Given the description of an element on the screen output the (x, y) to click on. 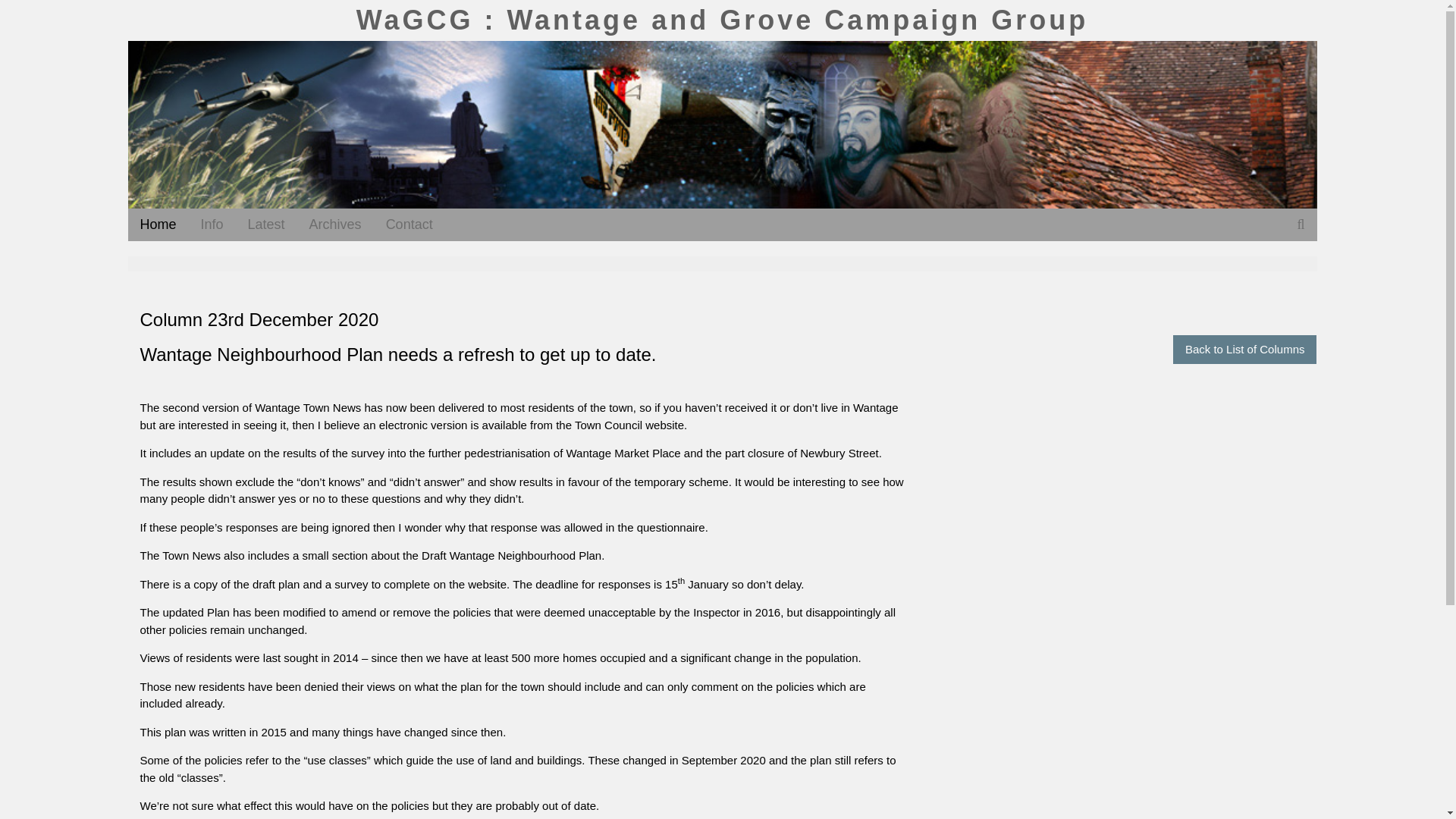
Latest (266, 224)
Info (212, 224)
Contact (409, 224)
Archives (335, 224)
Home (157, 224)
